Given the description of an element on the screen output the (x, y) to click on. 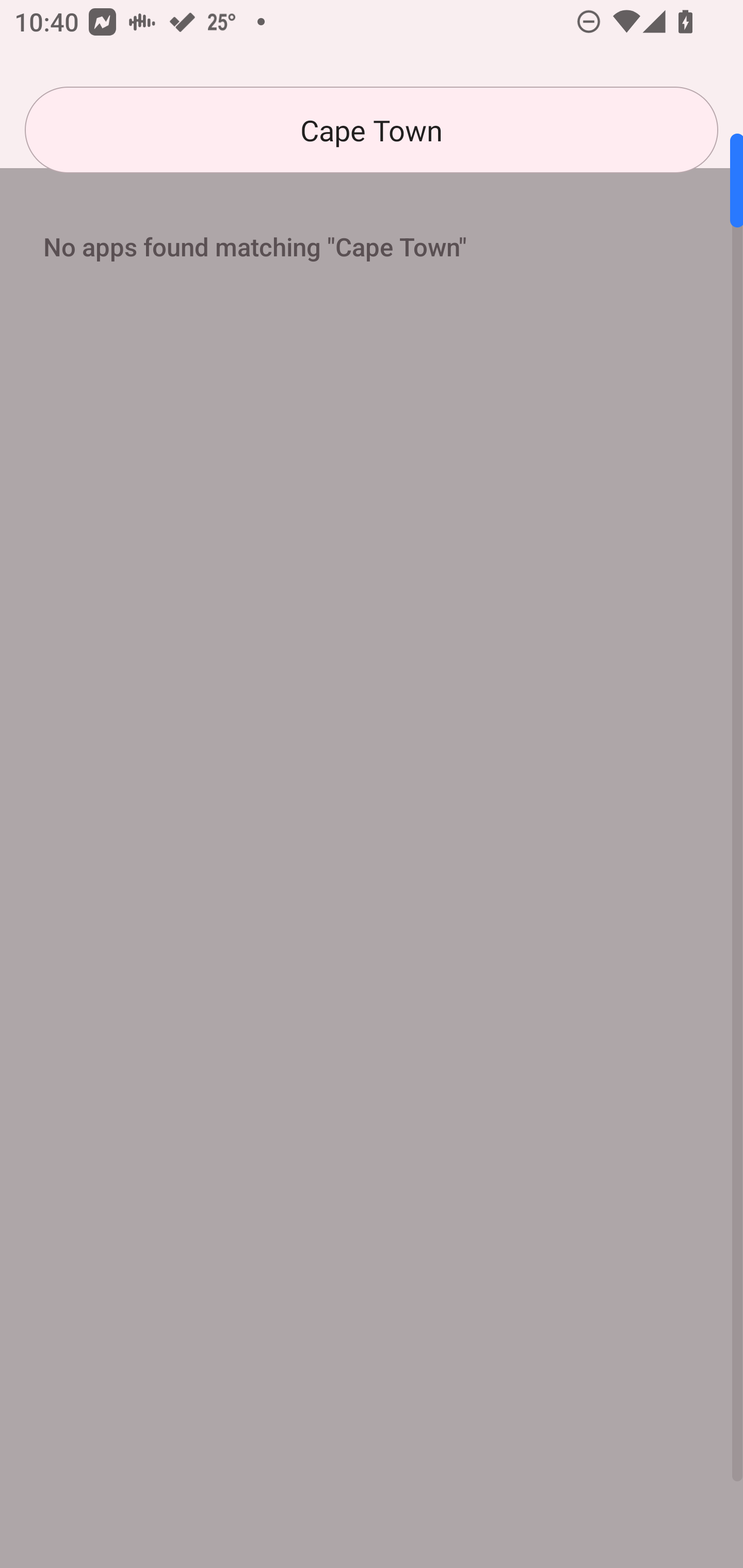
Cape Town (371, 130)
